Given the description of an element on the screen output the (x, y) to click on. 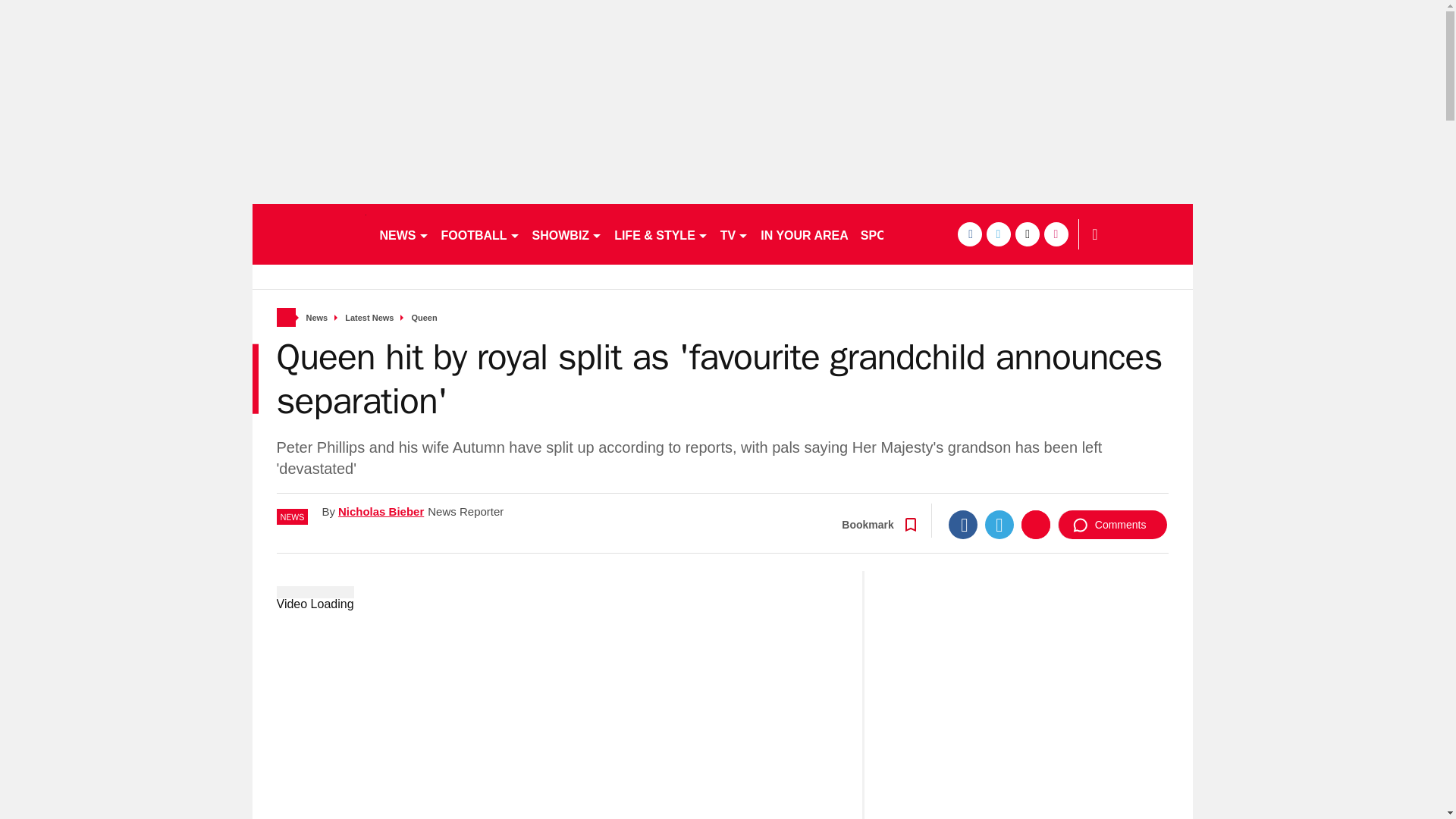
Twitter (999, 524)
twitter (997, 233)
NEWS (402, 233)
Comments (1112, 524)
dailystar (308, 233)
facebook (968, 233)
tiktok (1026, 233)
Facebook (962, 524)
SHOWBIZ (566, 233)
FOOTBALL (480, 233)
instagram (1055, 233)
